Given the description of an element on the screen output the (x, y) to click on. 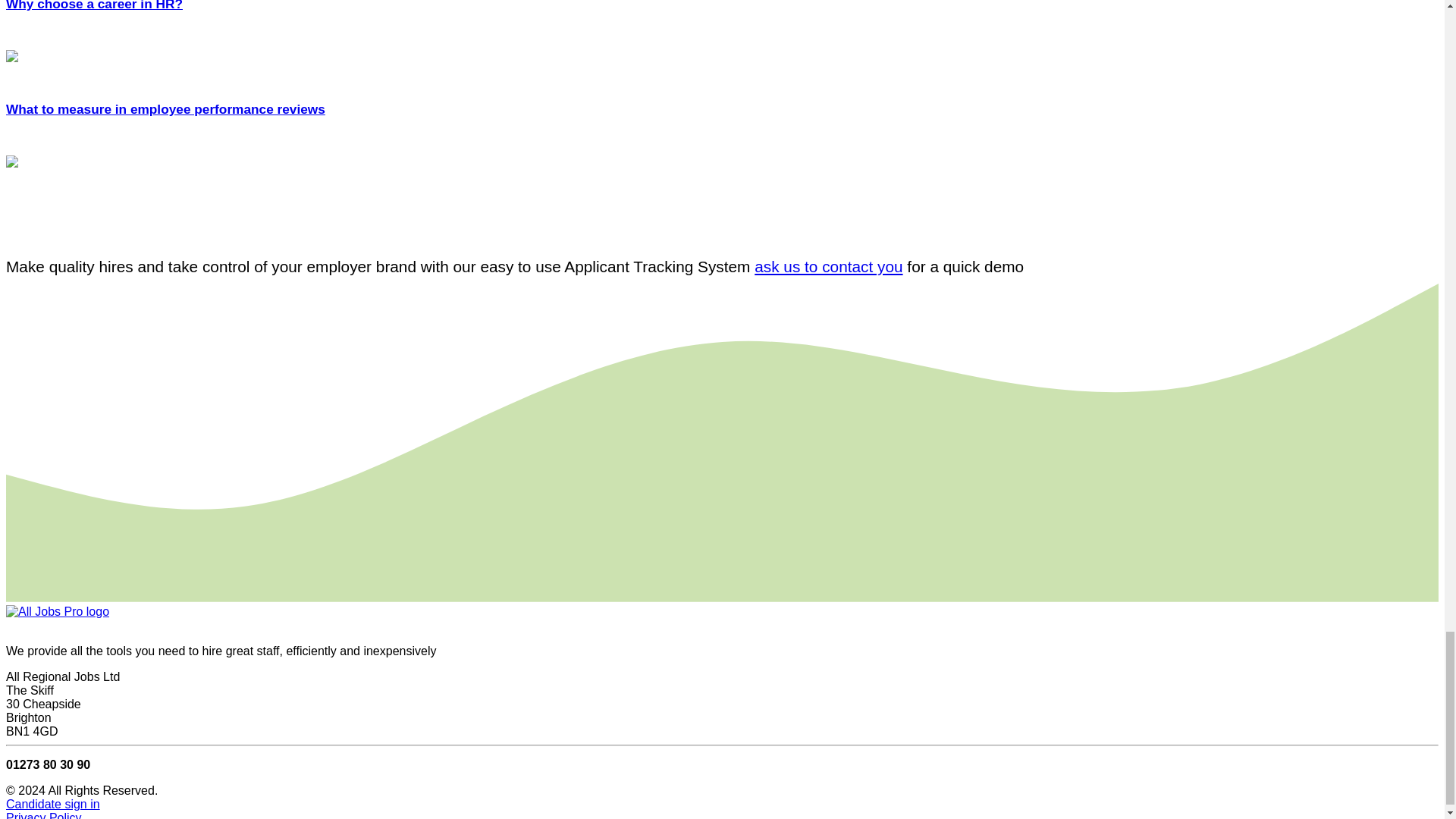
Candidate sign in (52, 803)
ask us to contact you (828, 266)
